Given the description of an element on the screen output the (x, y) to click on. 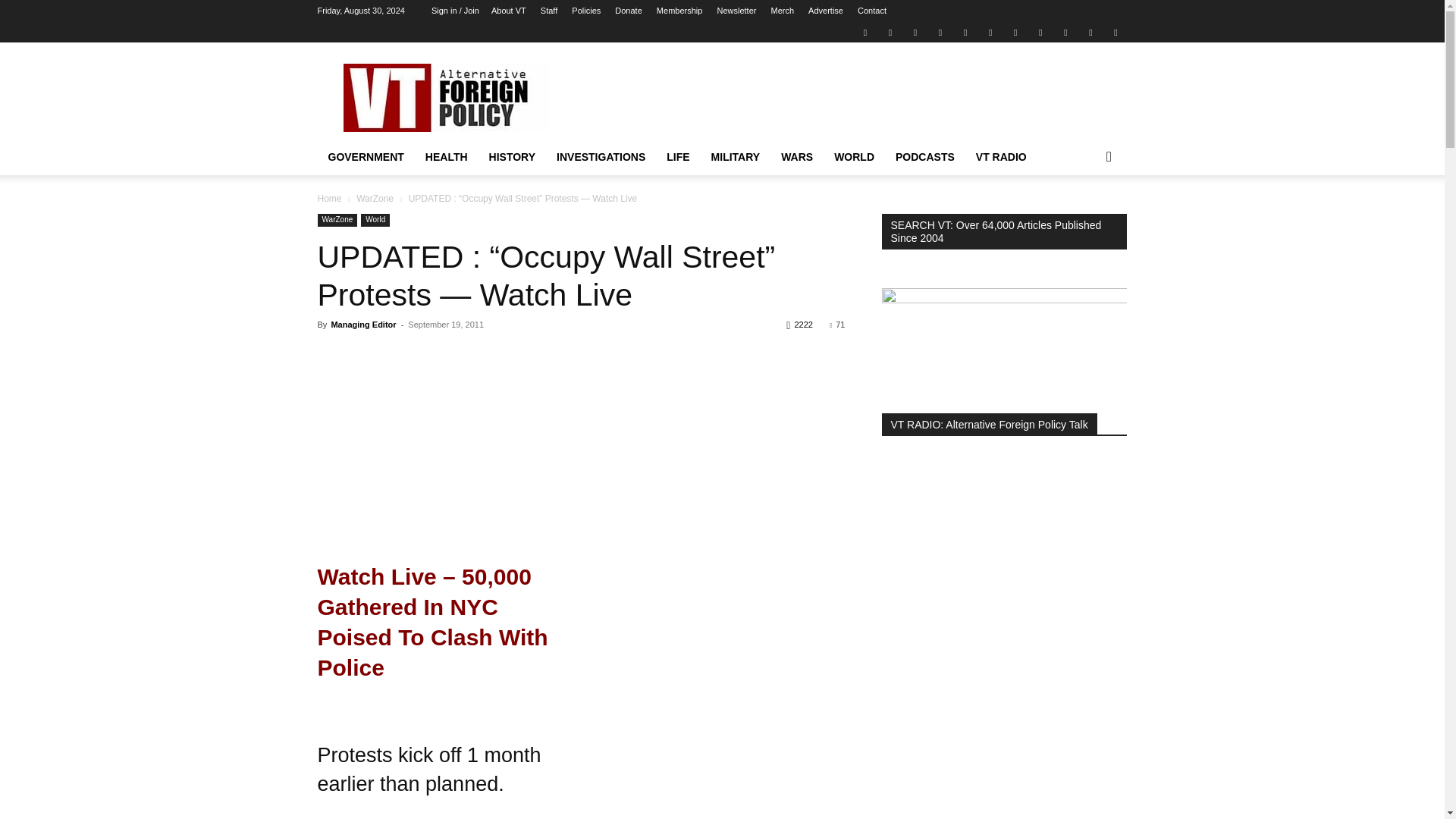
Rumble (964, 31)
Donate (628, 10)
Mail (915, 31)
Contact (871, 10)
Facebook (890, 31)
Policies (585, 10)
Newsletter (735, 10)
Staff (548, 10)
Reddit (940, 31)
Merch (781, 10)
